Given the description of an element on the screen output the (x, y) to click on. 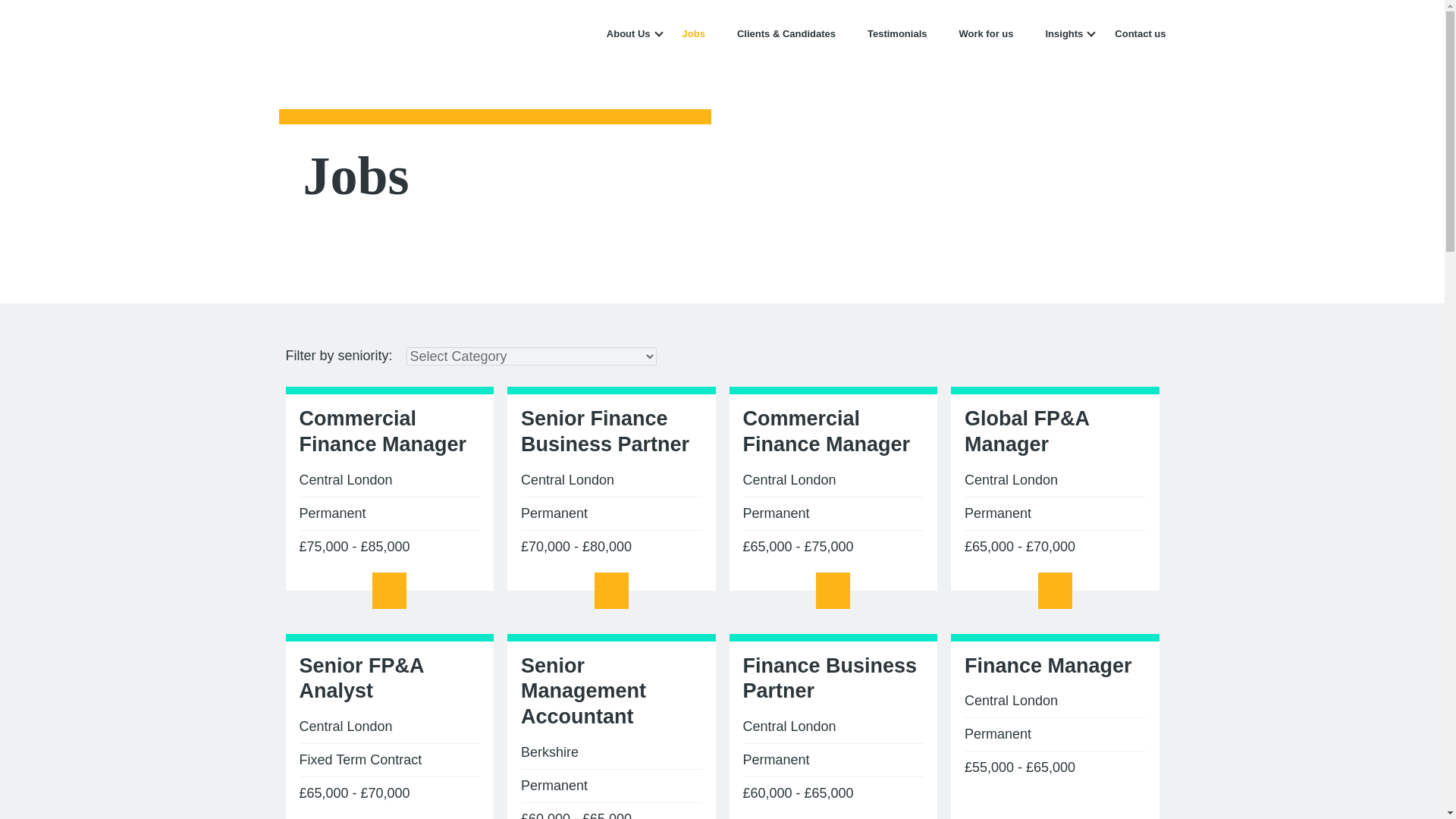
Work for us (985, 33)
Contact us (1140, 33)
Insights (1064, 33)
Testimonials (897, 33)
JasperRose (370, 31)
About Us (628, 33)
